Given the description of an element on the screen output the (x, y) to click on. 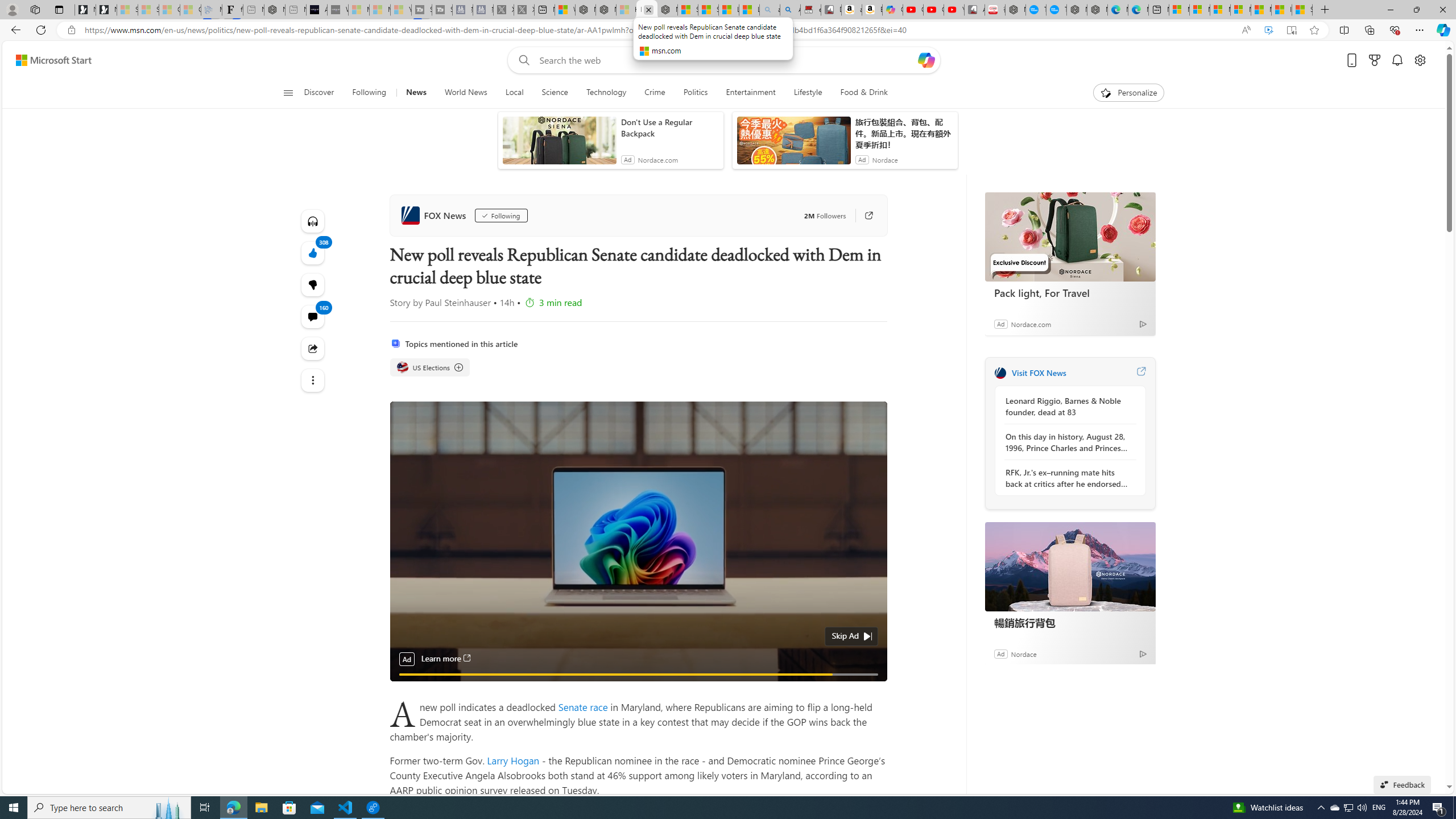
Politics (694, 92)
Entertainment (750, 92)
Technology (606, 92)
World News (465, 92)
Local (514, 92)
Share this story (312, 348)
Gloom - YouTube (933, 9)
Nordace.com (1030, 323)
